Given the description of an element on the screen output the (x, y) to click on. 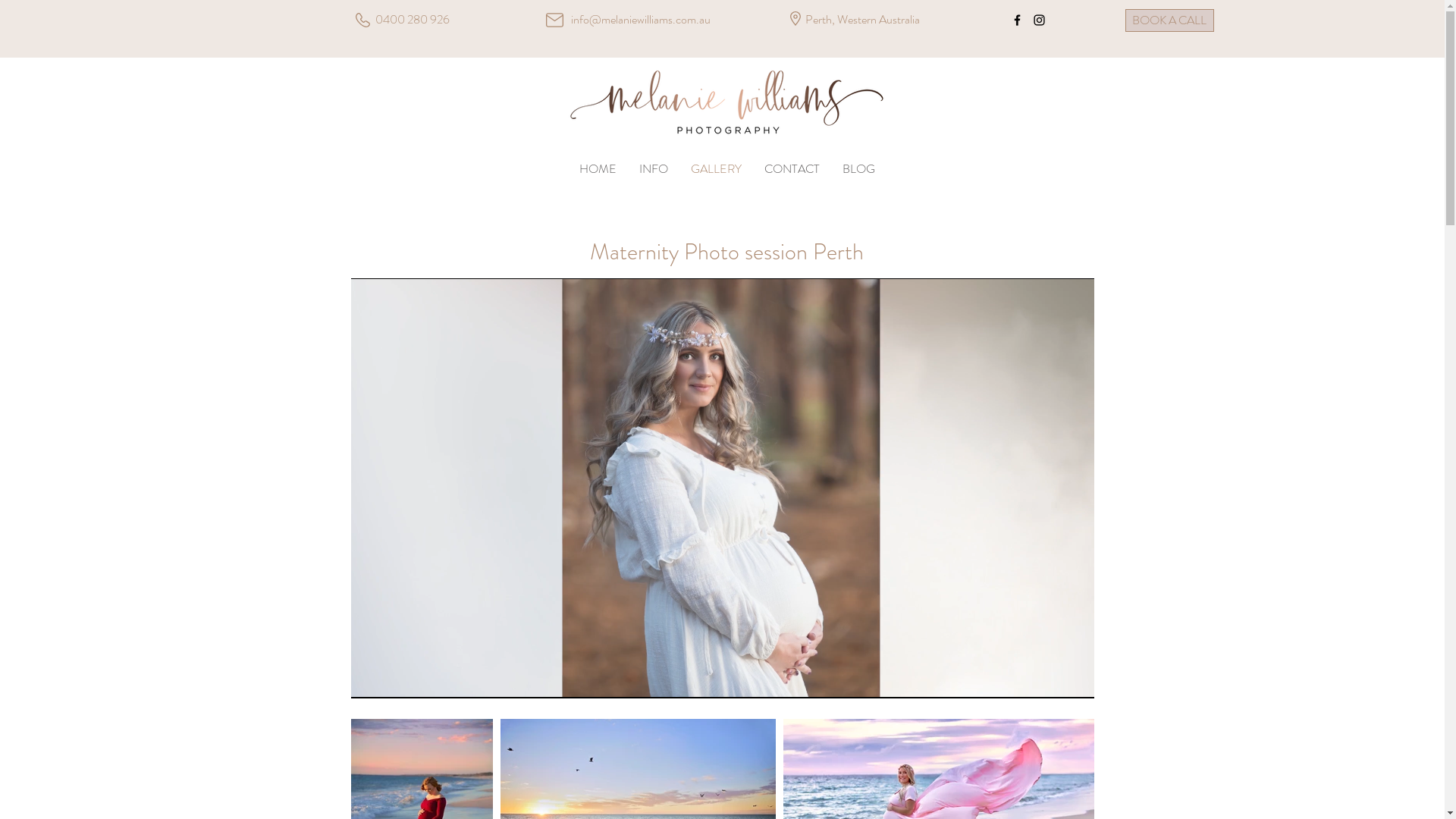
CONTACT Element type: text (791, 168)
BOOK A CALL Element type: text (1169, 20)
GALLERY Element type: text (716, 168)
INFO Element type: text (653, 168)
info@melaniewilliams.com.au Element type: text (639, 19)
HOME Element type: text (597, 168)
BLOG Element type: text (858, 168)
